Given the description of an element on the screen output the (x, y) to click on. 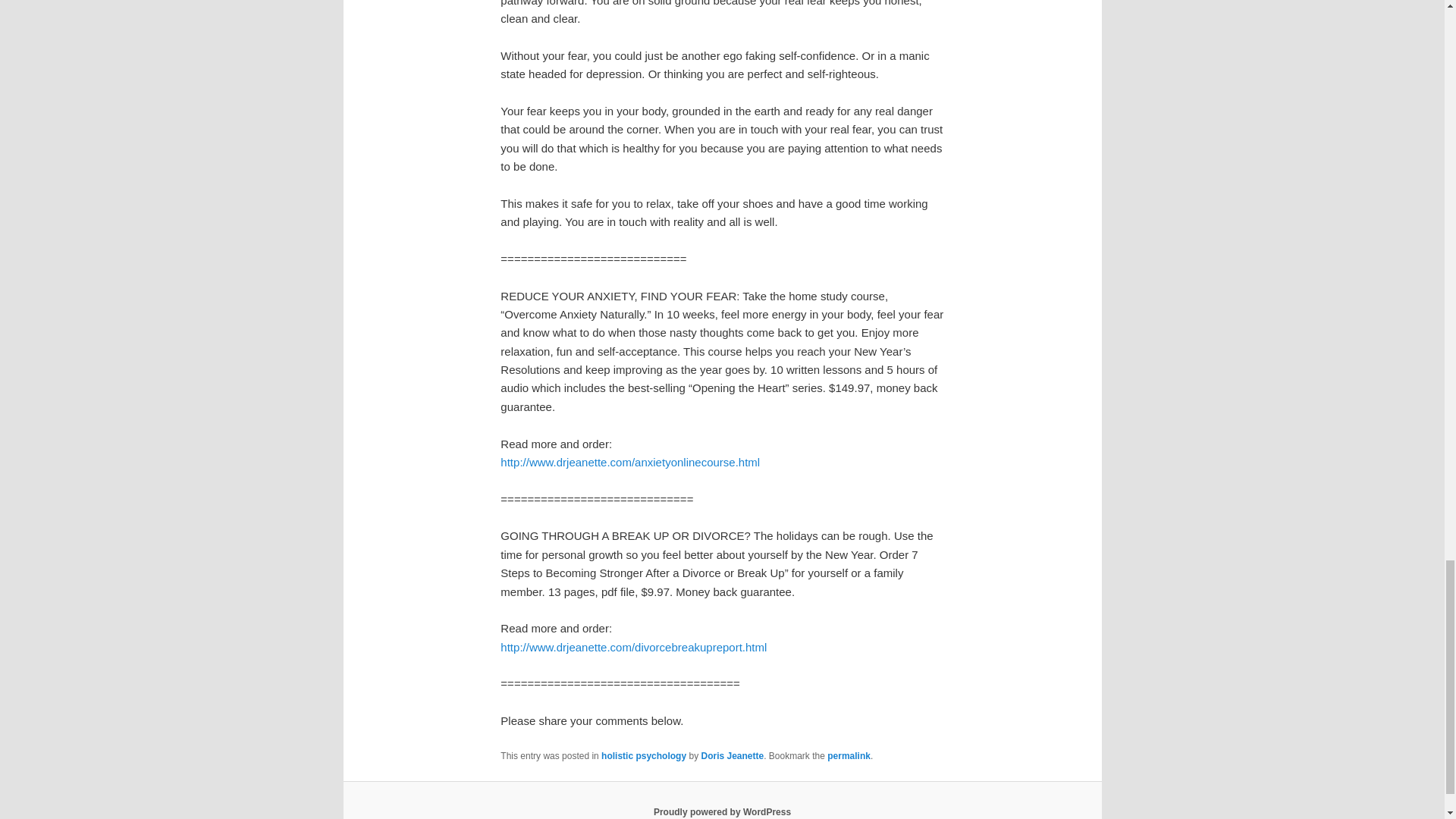
Semantic Personal Publishing Platform (721, 811)
holistic psychology (643, 756)
Doris Jeanette (731, 756)
permalink (848, 756)
Proudly powered by WordPress (721, 811)
